Given the description of an element on the screen output the (x, y) to click on. 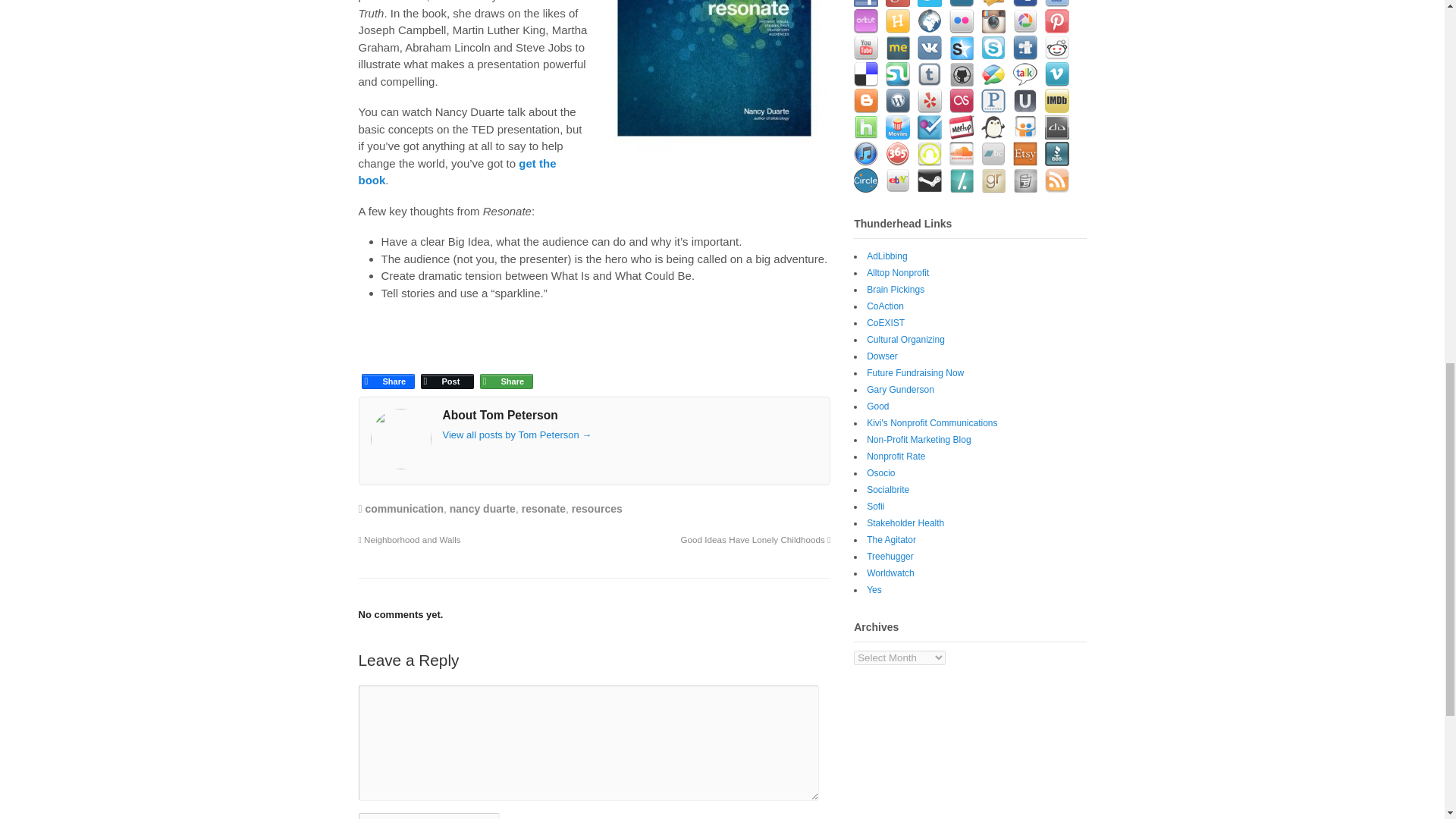
More Options (505, 367)
Resonate, Nancy Duarte (713, 77)
resonate the book (457, 172)
Facebook (387, 367)
